Given the description of an element on the screen output the (x, y) to click on. 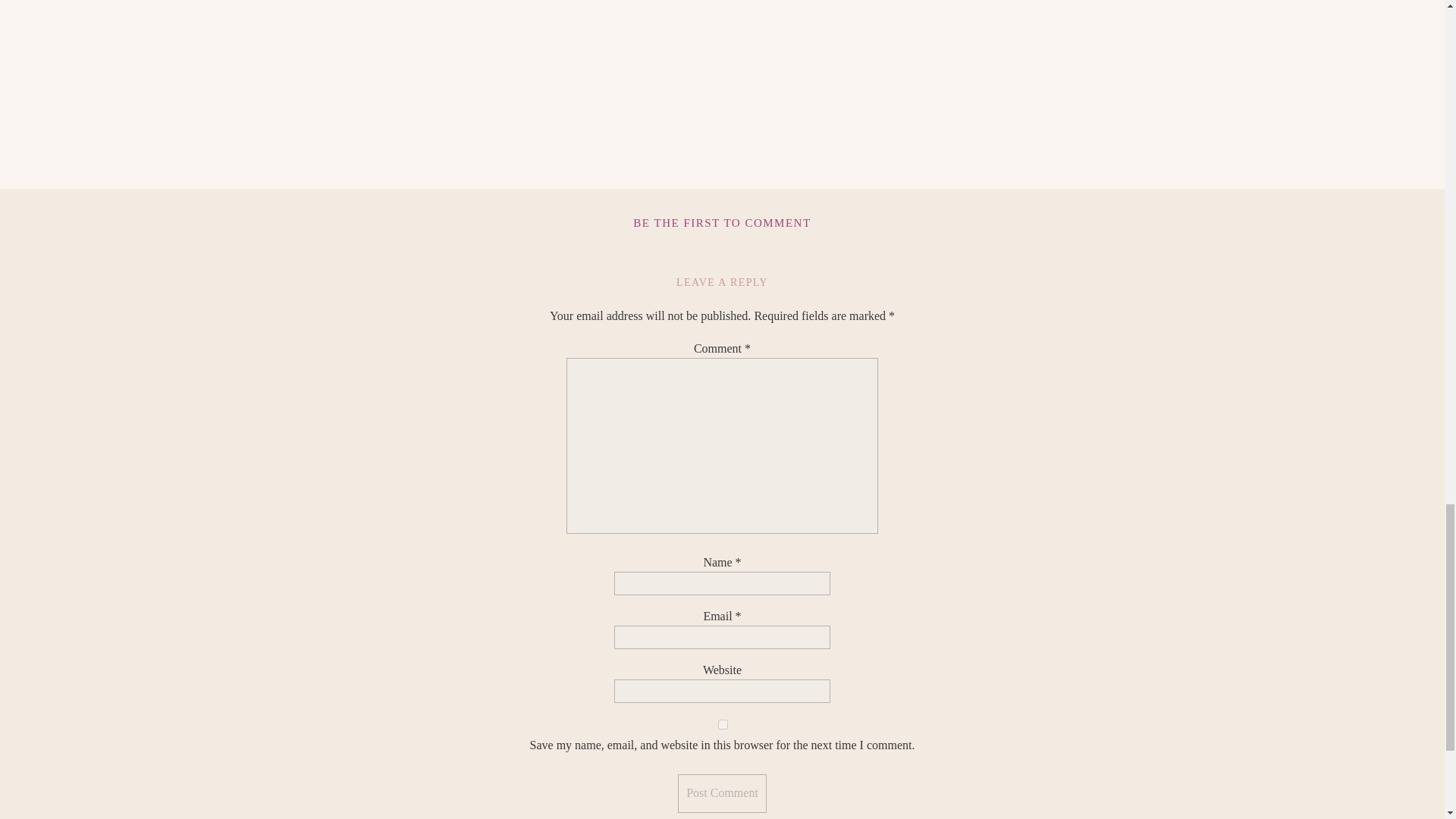
Post Comment (722, 793)
yes (721, 724)
